Given the description of an element on the screen output the (x, y) to click on. 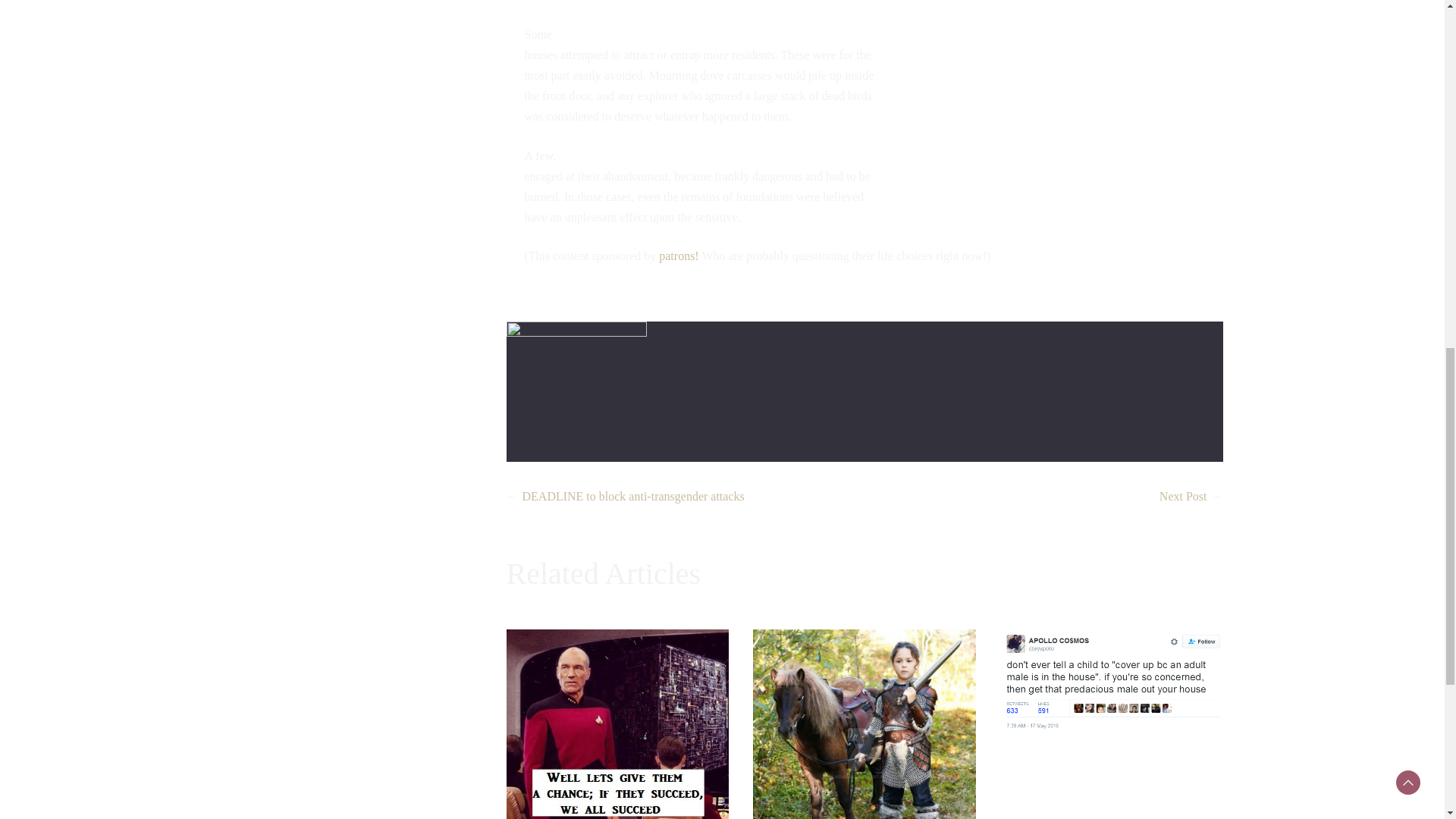
DEADLINE to block anti-transgender attacks (632, 495)
Next Post (1182, 495)
patrons! (677, 255)
